Given the description of an element on the screen output the (x, y) to click on. 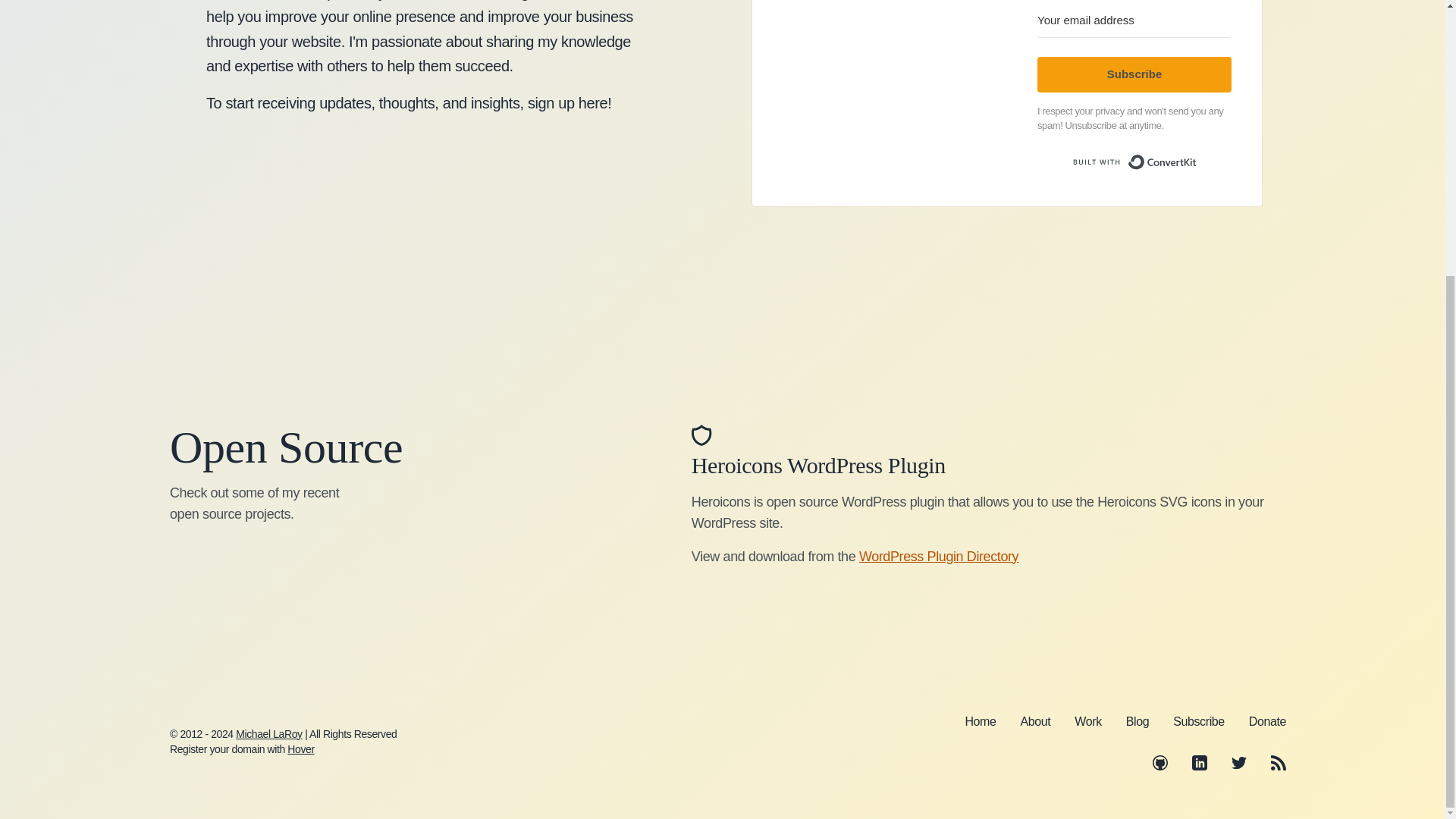
Blog (1136, 720)
Subscribe (1198, 720)
RSS Feed (1278, 762)
Built with ConvertKit (1133, 162)
WordPress Plugin Directory (938, 556)
Home (979, 720)
Github (1160, 762)
Michael LaRoy (268, 734)
Donate (1267, 720)
About (1035, 720)
